Given the description of an element on the screen output the (x, y) to click on. 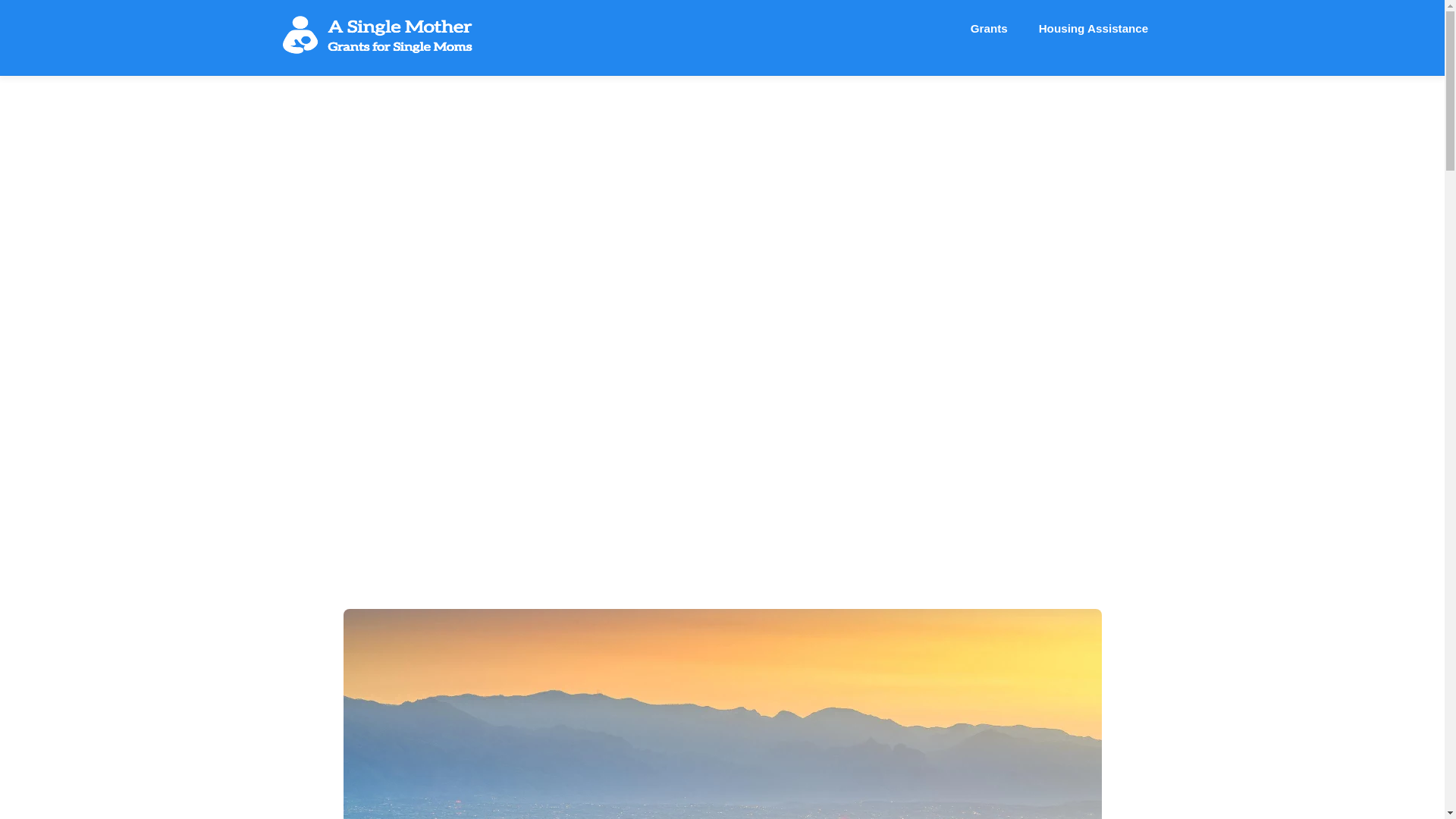
Grants (989, 28)
Housing Assistance (1093, 28)
grants-for-single-mothers-in-tucson-and-mesa (721, 28)
